Given the description of an element on the screen output the (x, y) to click on. 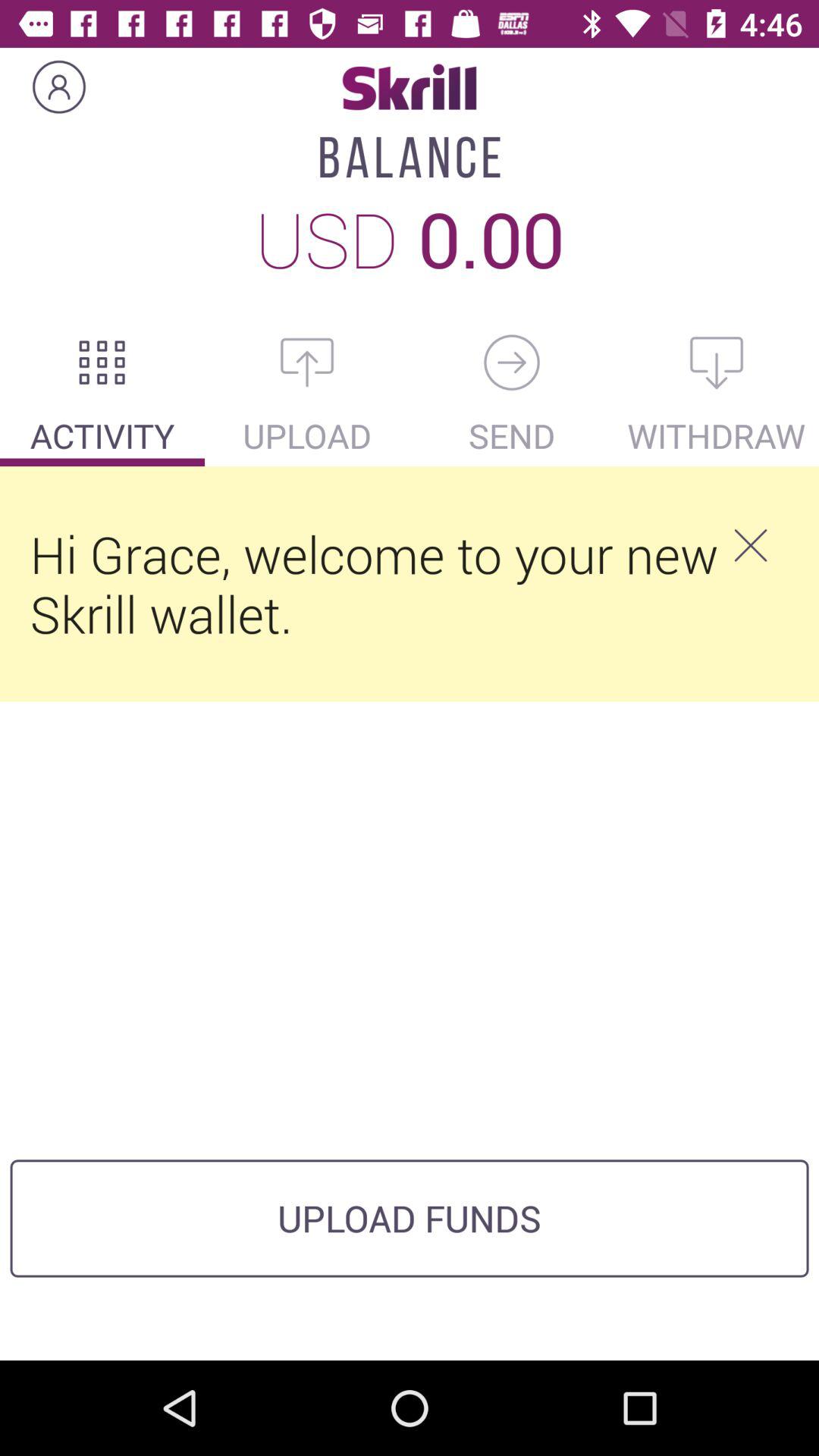
open icon to the right of hi grace welcome (750, 545)
